Given the description of an element on the screen output the (x, y) to click on. 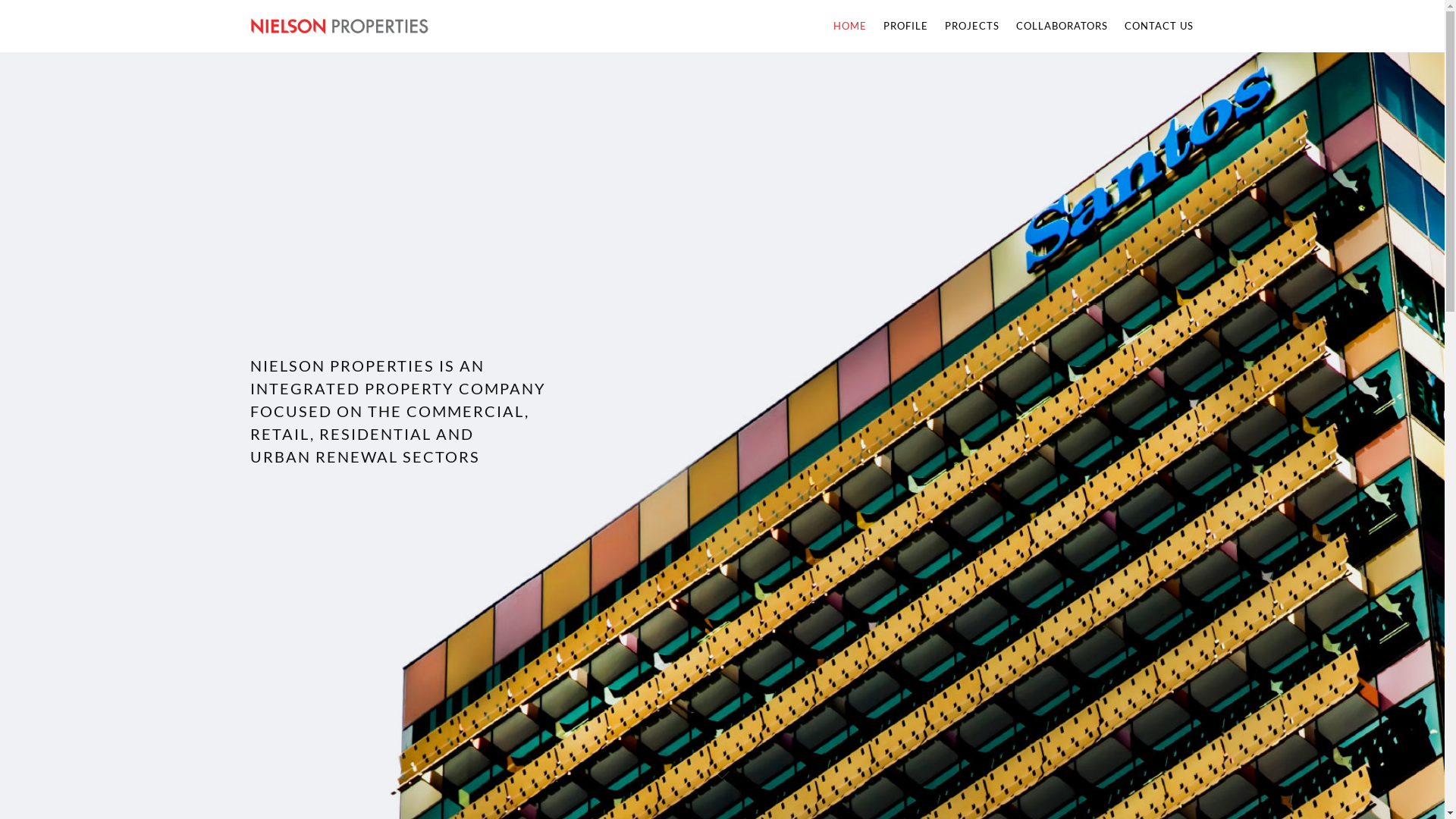
HOME Element type: text (849, 25)
PROJECTS Element type: text (972, 25)
COLLABORATORS Element type: text (1061, 25)
PROFILE Element type: text (905, 25)
CONTACT US Element type: text (1155, 25)
